Given the description of an element on the screen output the (x, y) to click on. 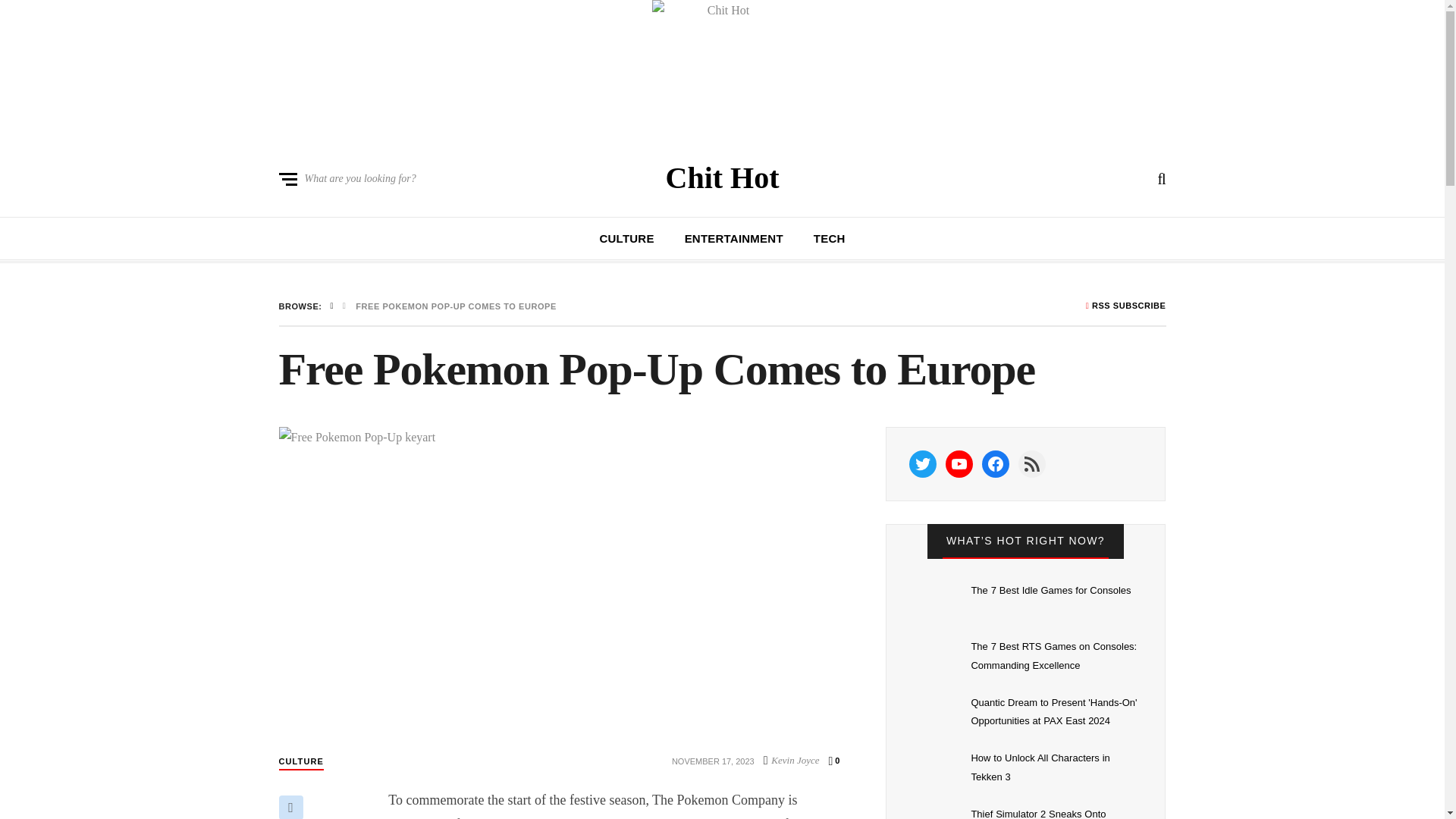
Chit Hot (721, 177)
ENTERTAINMENT (733, 237)
0 (834, 760)
Chit Hot (722, 70)
What are you looking for? (347, 178)
Click to share on Reddit (290, 807)
Chit Hot (721, 177)
TECH (829, 237)
CULTURE (301, 761)
RSS SUBSCRIBE (1126, 307)
Search (907, 546)
CULTURE (625, 237)
